Given the description of an element on the screen output the (x, y) to click on. 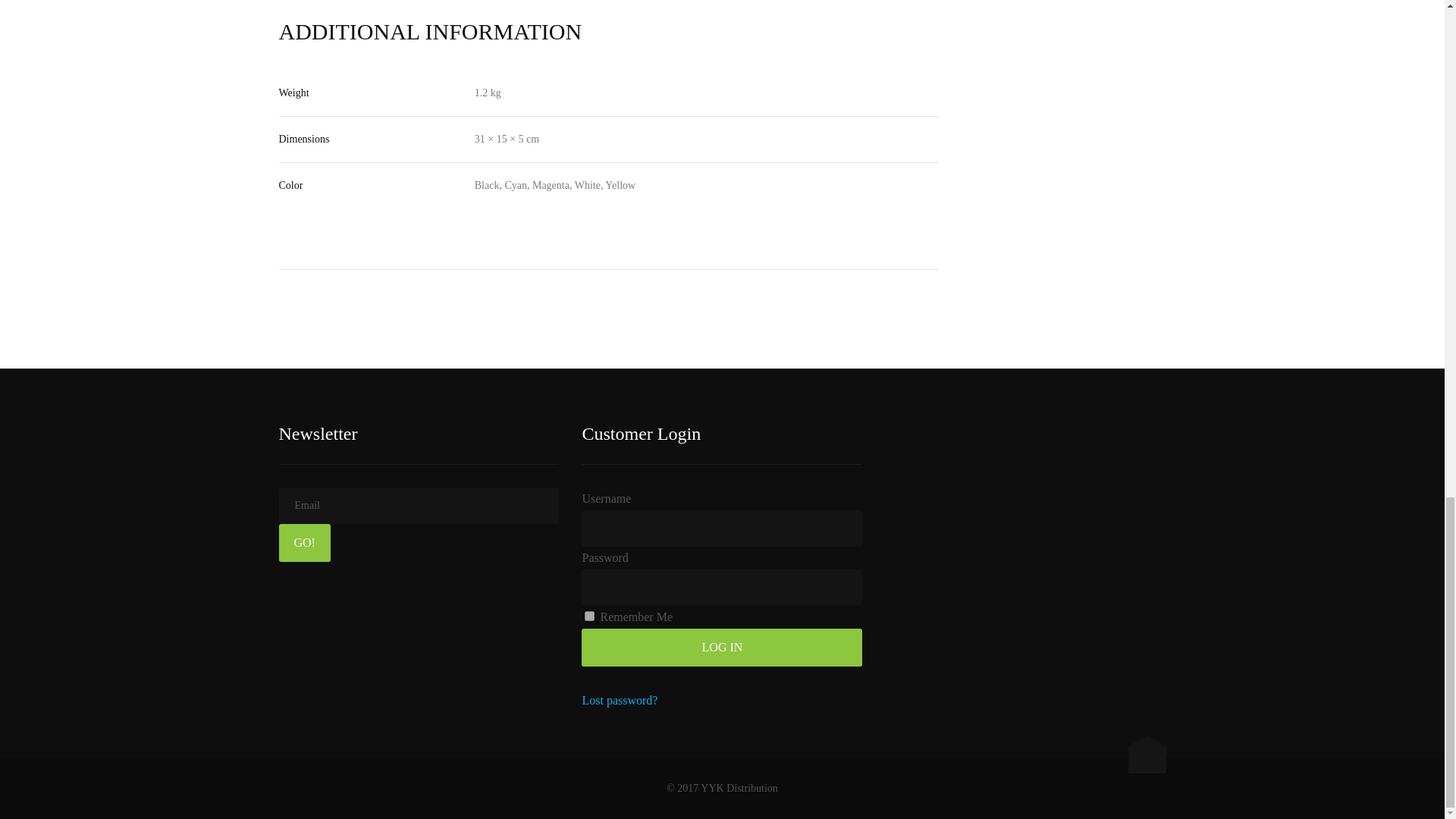
Log In (720, 647)
Go! (304, 542)
Go! (304, 542)
Log In (720, 647)
Lost password? (619, 699)
forever (589, 615)
